Given the description of an element on the screen output the (x, y) to click on. 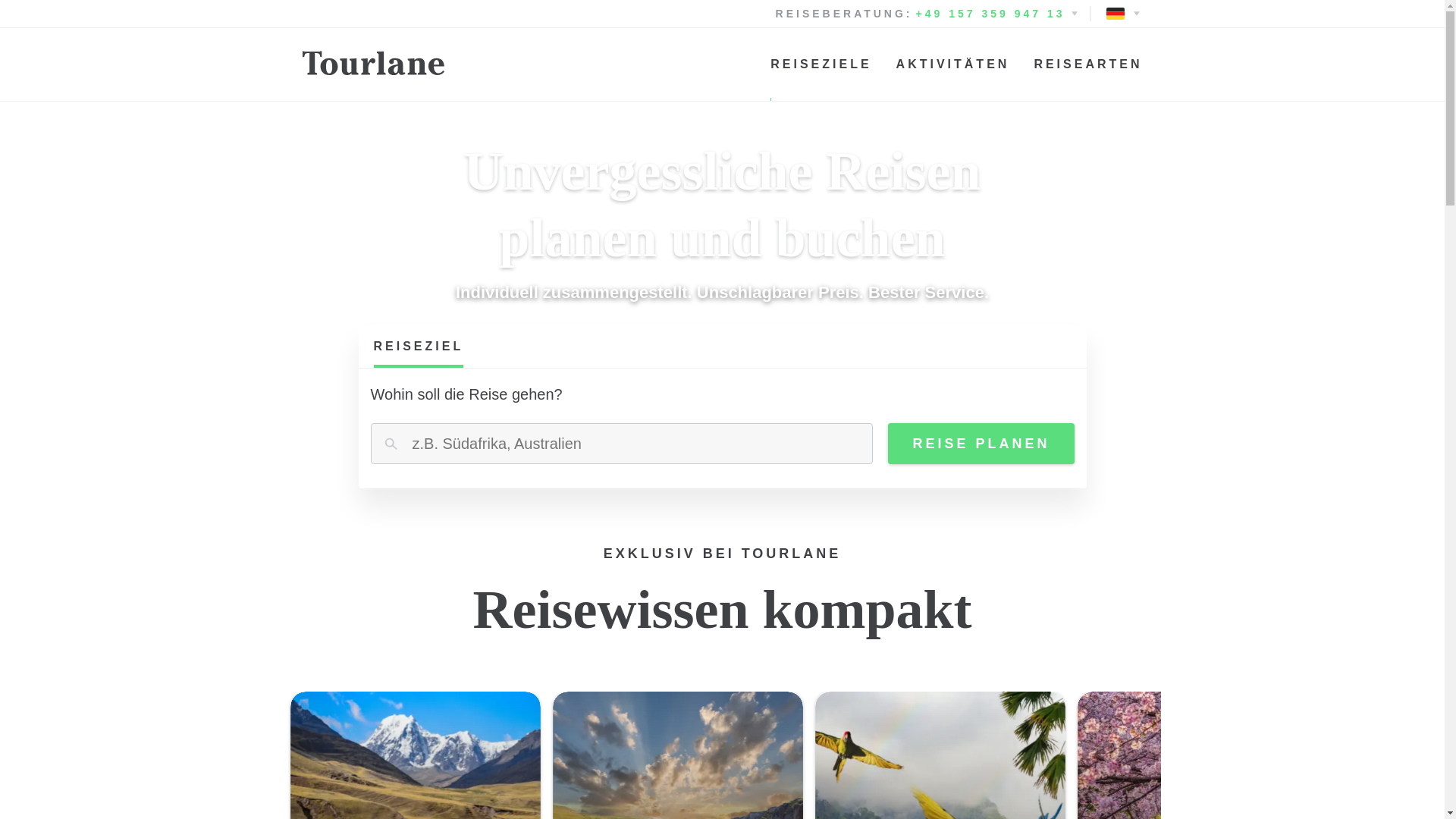
REISEARTEN (1087, 63)
REISE PLANEN (981, 443)
REISEZIELE (414, 755)
